Given the description of an element on the screen output the (x, y) to click on. 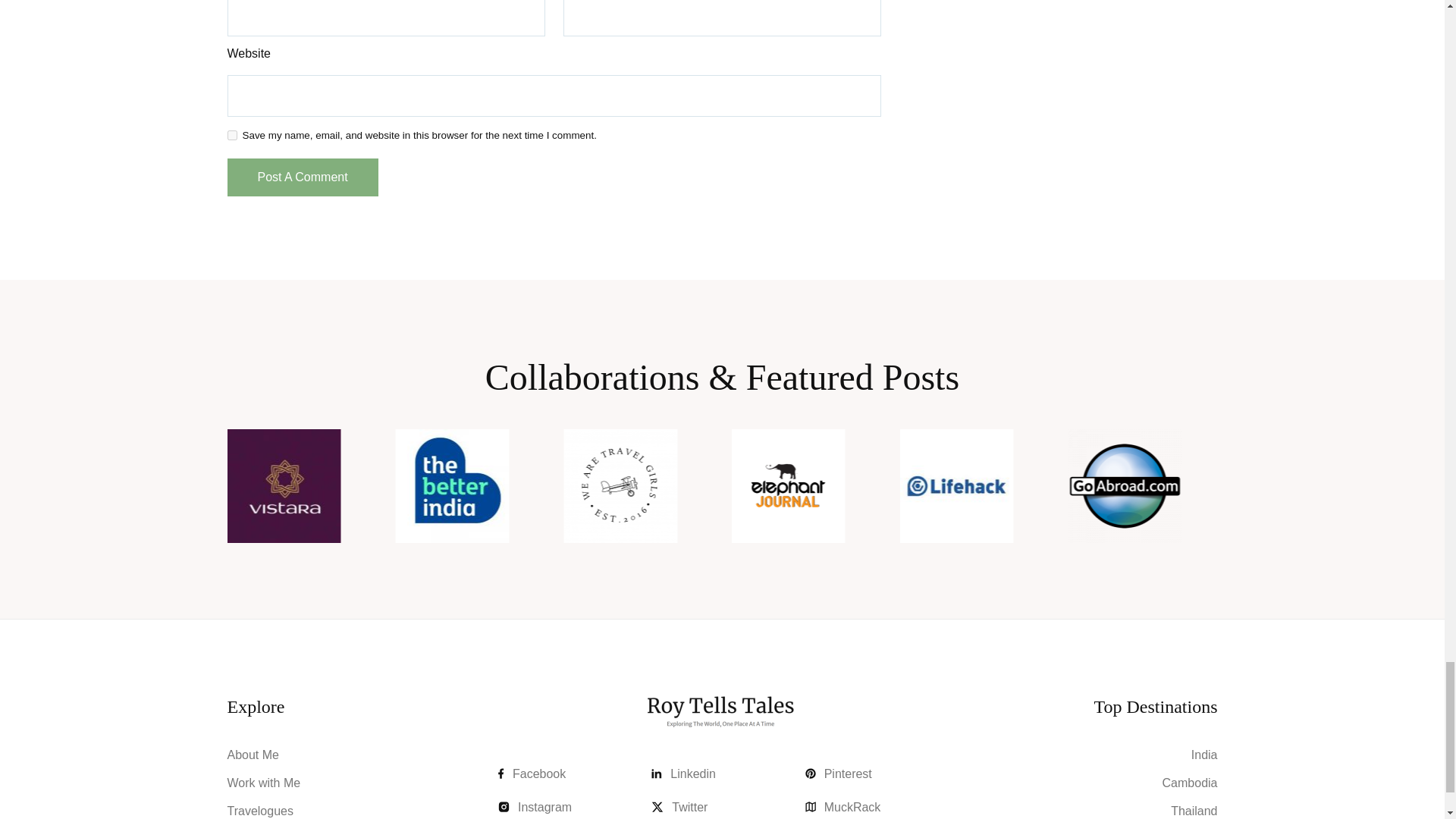
yes (232, 135)
Post a Comment (302, 177)
